Given the description of an element on the screen output the (x, y) to click on. 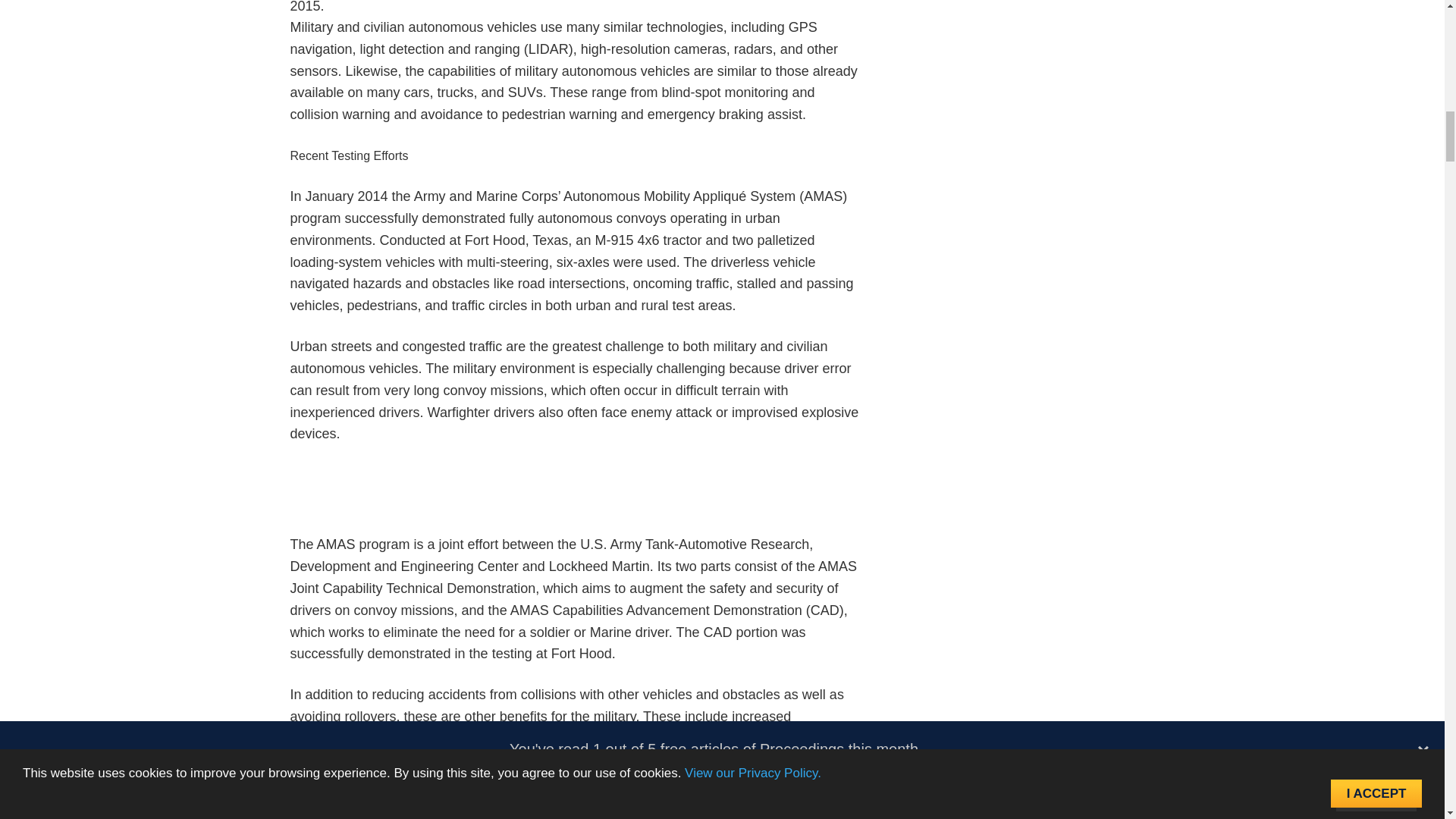
3rd party ad content (574, 498)
